Given the description of an element on the screen output the (x, y) to click on. 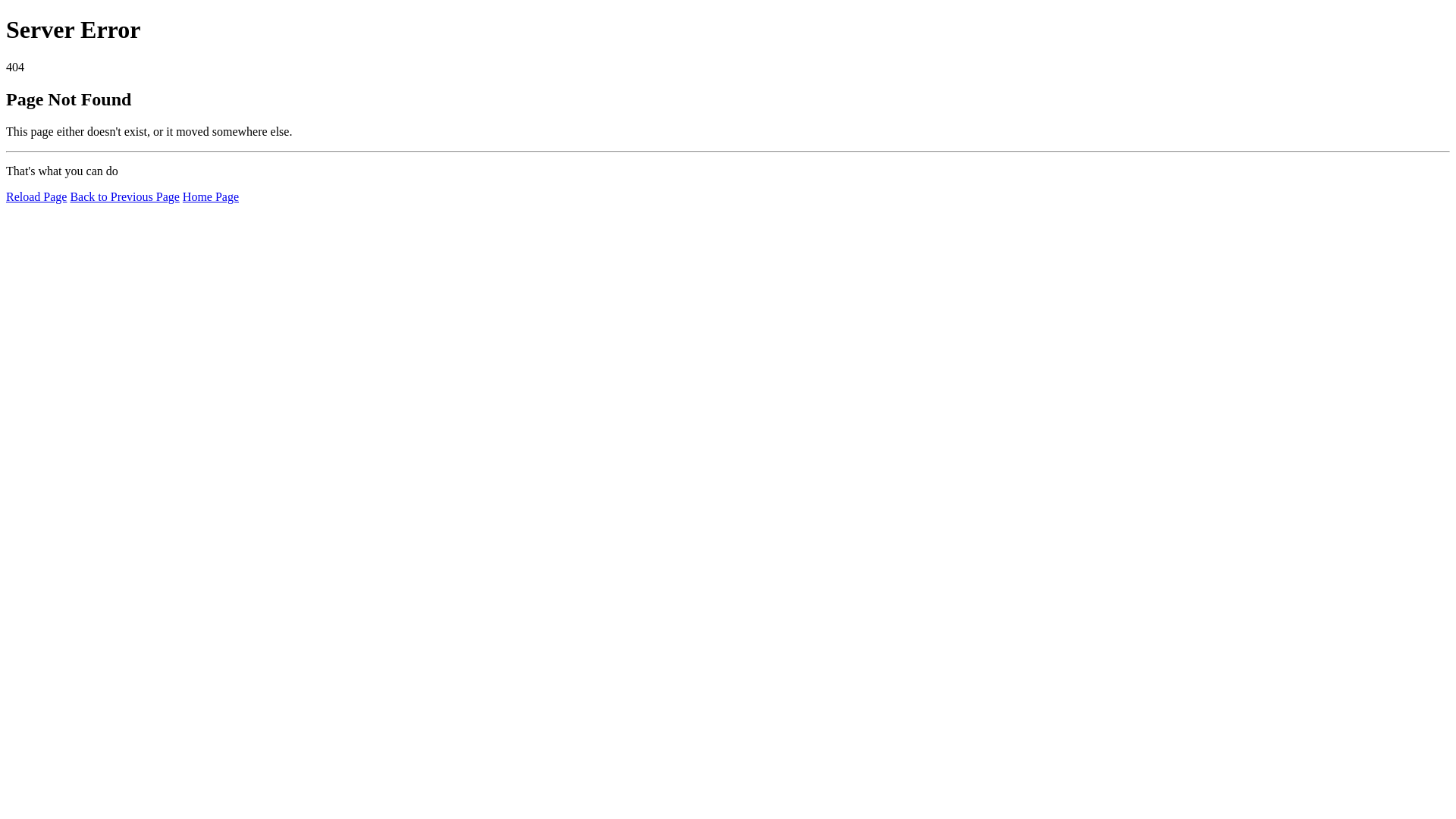
Reload Page Element type: text (36, 196)
Back to Previous Page Element type: text (123, 196)
Home Page Element type: text (210, 196)
